Given the description of an element on the screen output the (x, y) to click on. 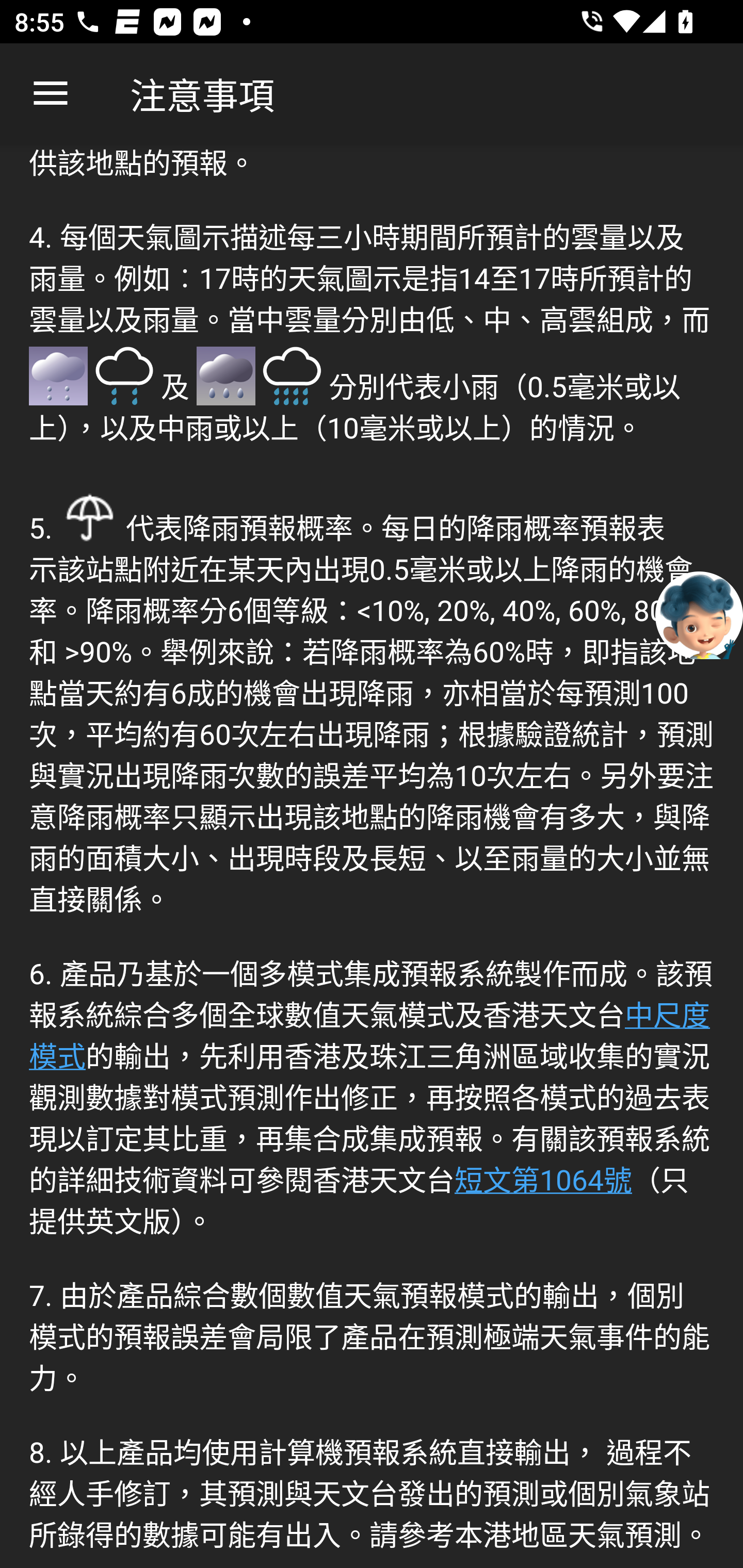
向上瀏覽 (50, 93)
聊天機械人 (699, 614)
